Given the description of an element on the screen output the (x, y) to click on. 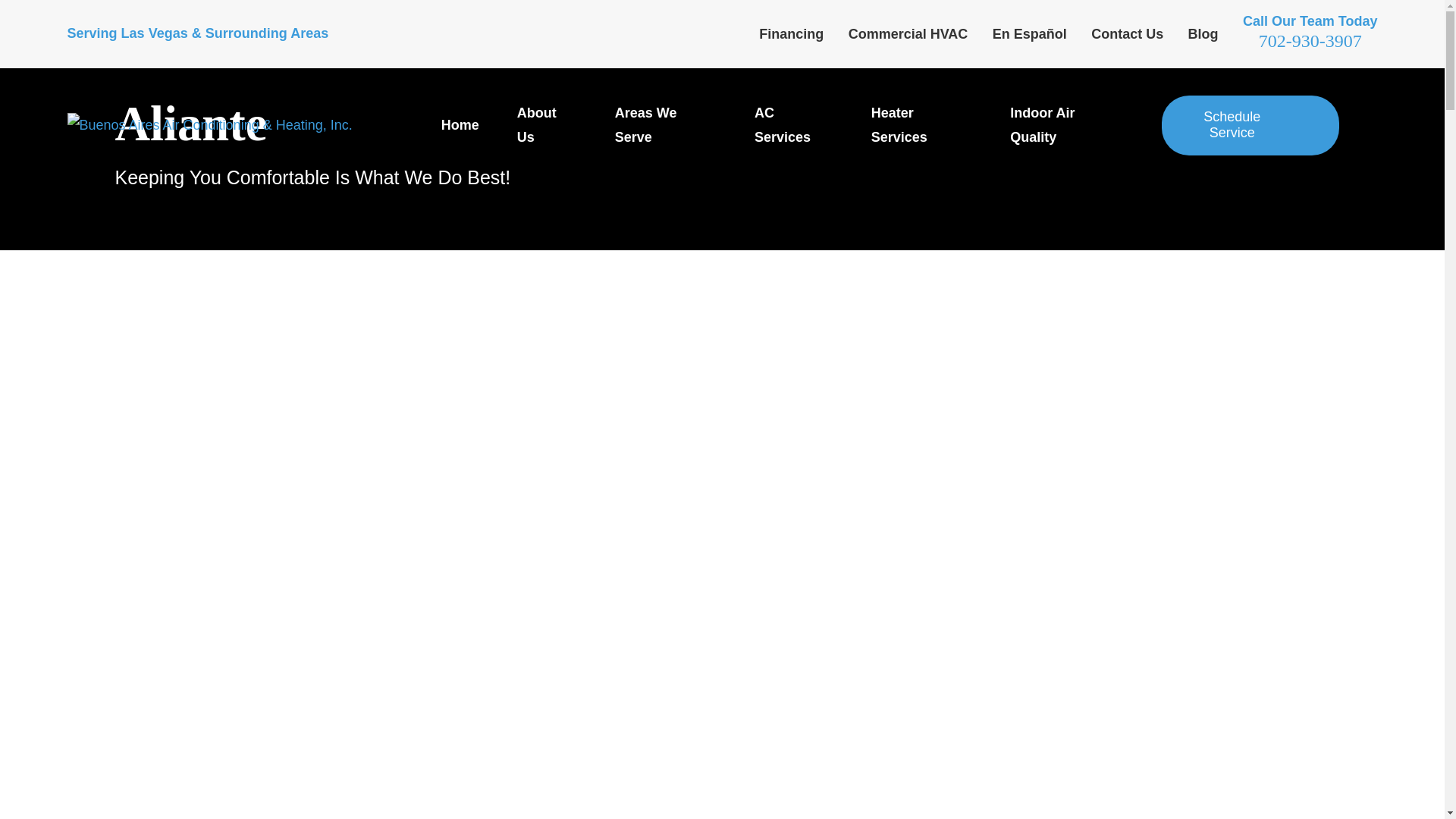
702-930-3907 (1310, 40)
Home (209, 125)
Blog (1203, 33)
Commercial HVAC (908, 33)
Contact Us (1126, 33)
Areas We Serve (665, 124)
Financing (791, 33)
